Given the description of an element on the screen output the (x, y) to click on. 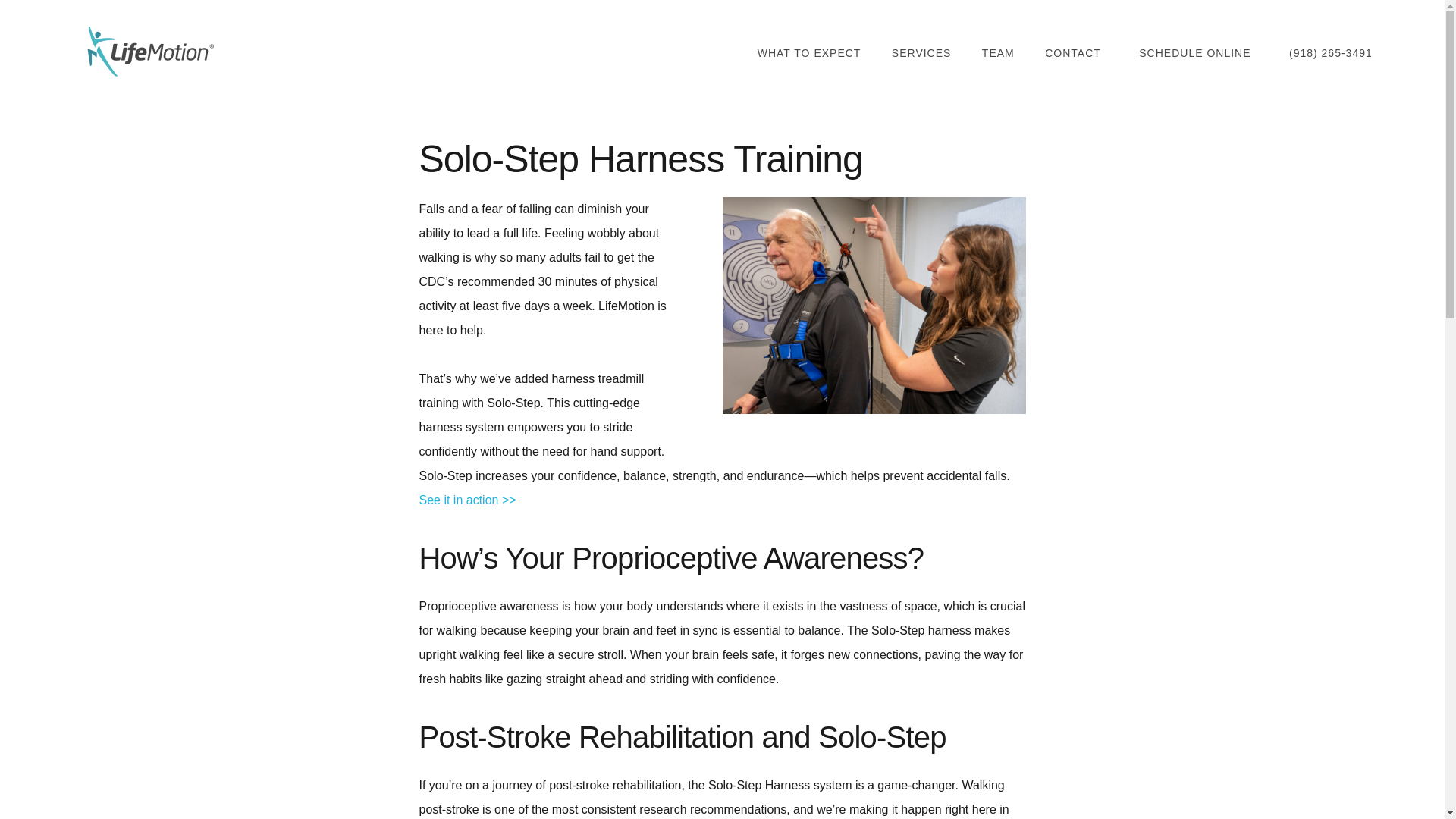
WHAT TO EXPECT (809, 53)
LifeMotion (147, 50)
SCHEDULE ONLINE (1194, 53)
SERVICES (921, 53)
